Given the description of an element on the screen output the (x, y) to click on. 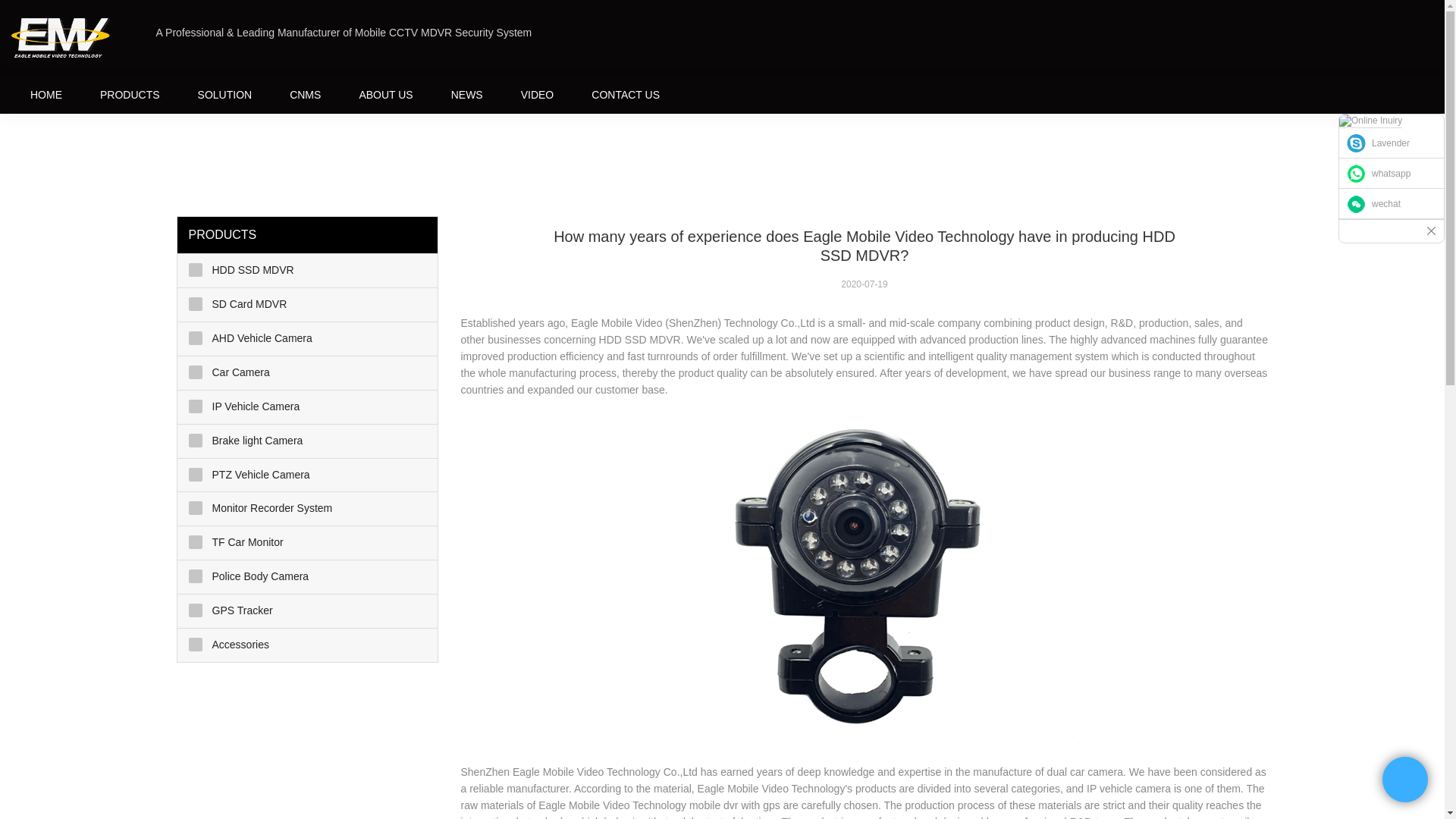
VIDEO (537, 94)
TF Car Monitor (307, 542)
Police Body Camera (307, 576)
PTZ Vehicle Camera (307, 474)
IP Vehicle Camera (307, 407)
wechat (1391, 204)
GPS Tracker (307, 611)
whatsapp (1391, 173)
Lavender (1391, 142)
Accessories (307, 644)
SD Card MDVR (307, 304)
HOME (46, 94)
CONTACT US (625, 94)
Car Camera (307, 372)
AHD Vehicle Camera (307, 338)
